Given the description of an element on the screen output the (x, y) to click on. 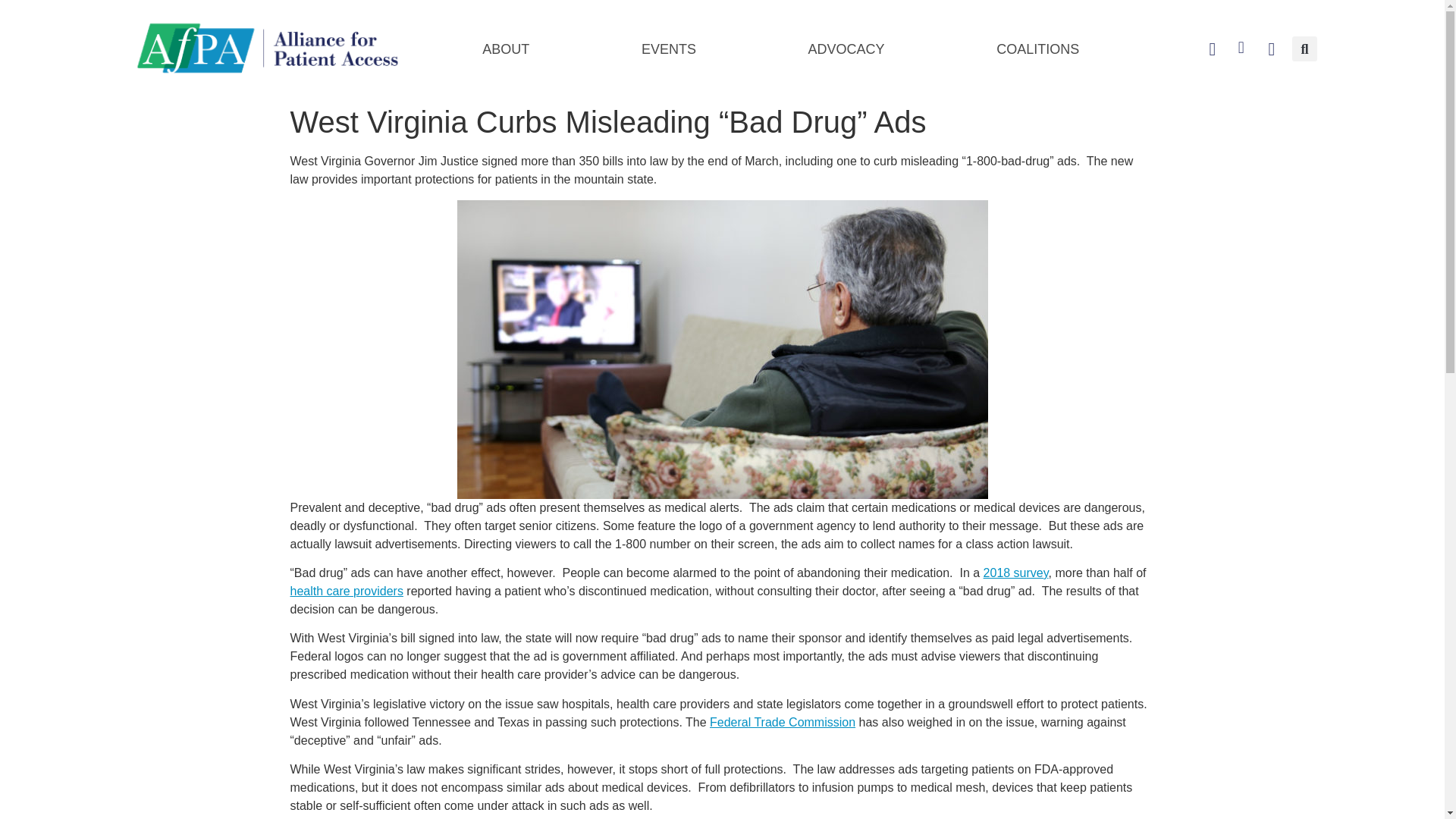
ABOUT (505, 48)
2018 survey (1016, 572)
EVENTS (668, 48)
COALITIONS (1037, 48)
ADVOCACY (846, 48)
Federal Trade Commission (783, 721)
health care providers (346, 590)
